Given the description of an element on the screen output the (x, y) to click on. 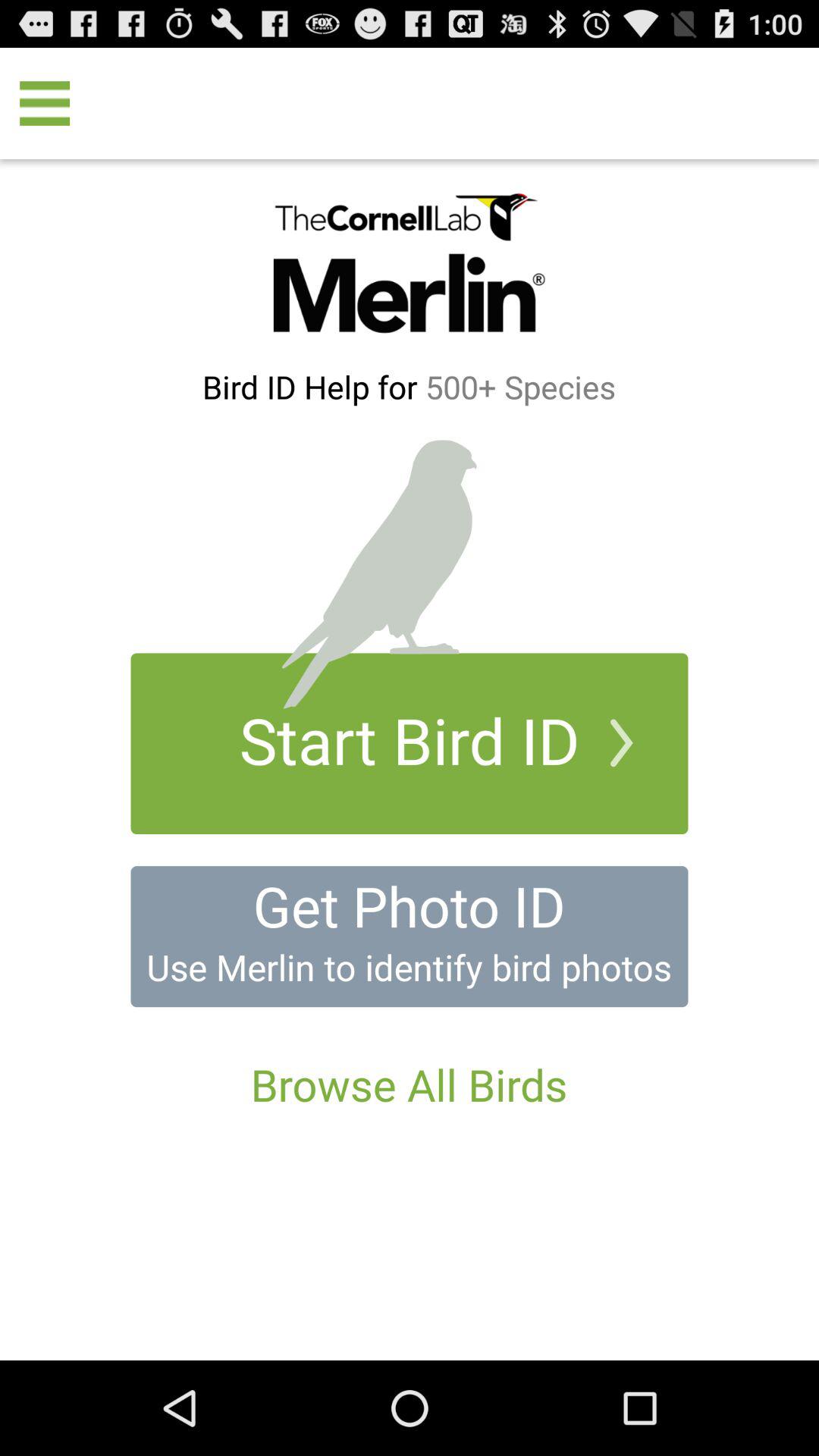
open the browse all birds (408, 1084)
